Given the description of an element on the screen output the (x, y) to click on. 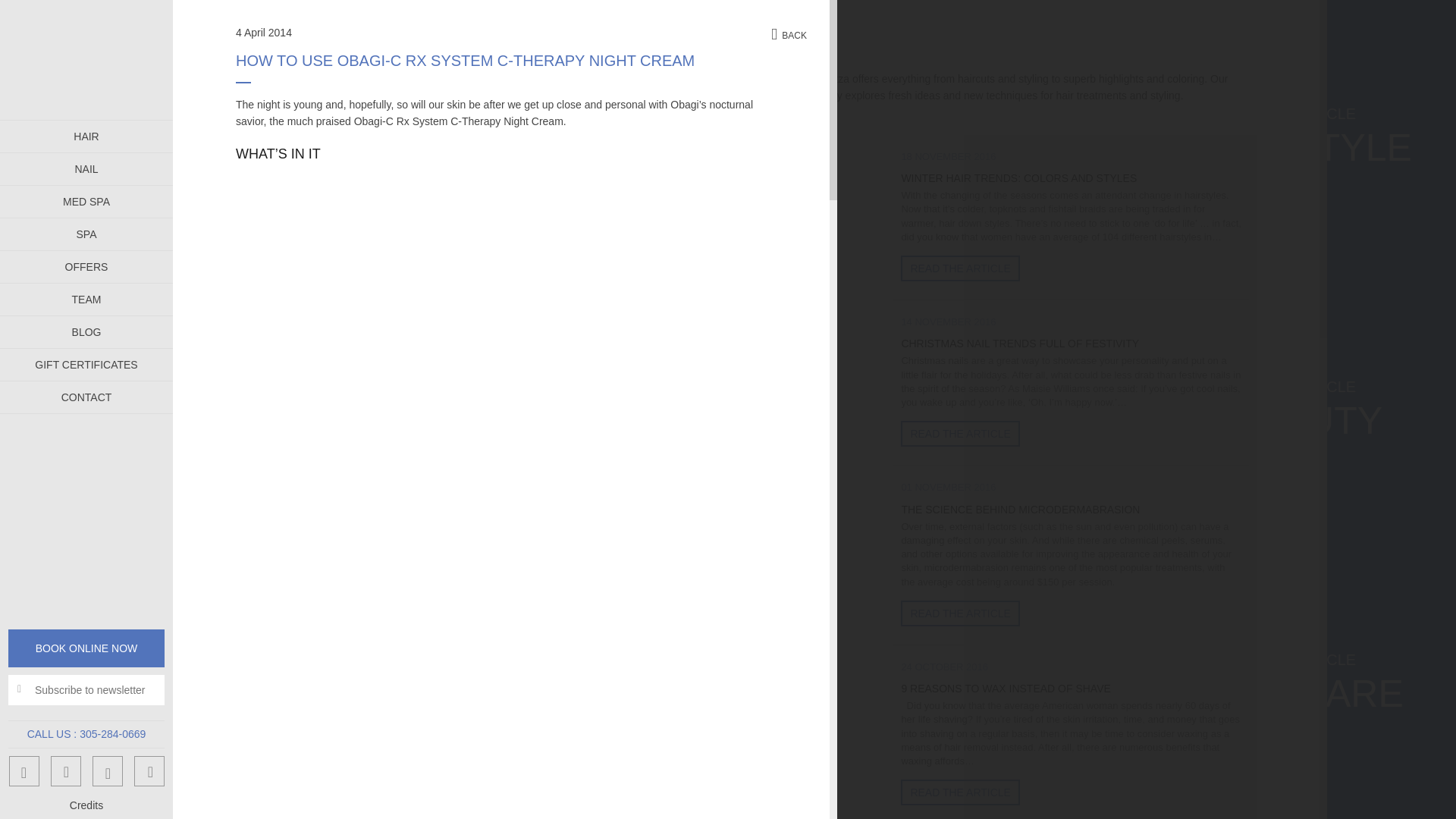
BACK (788, 35)
NAIL (86, 169)
Subscribe (29, 7)
MED SPA (86, 201)
Click to call us - Mobile only (112, 734)
Credits (86, 805)
BELLEZZA (86, 59)
SPA (86, 234)
BLOG (86, 332)
TEAM (86, 299)
